Given the description of an element on the screen output the (x, y) to click on. 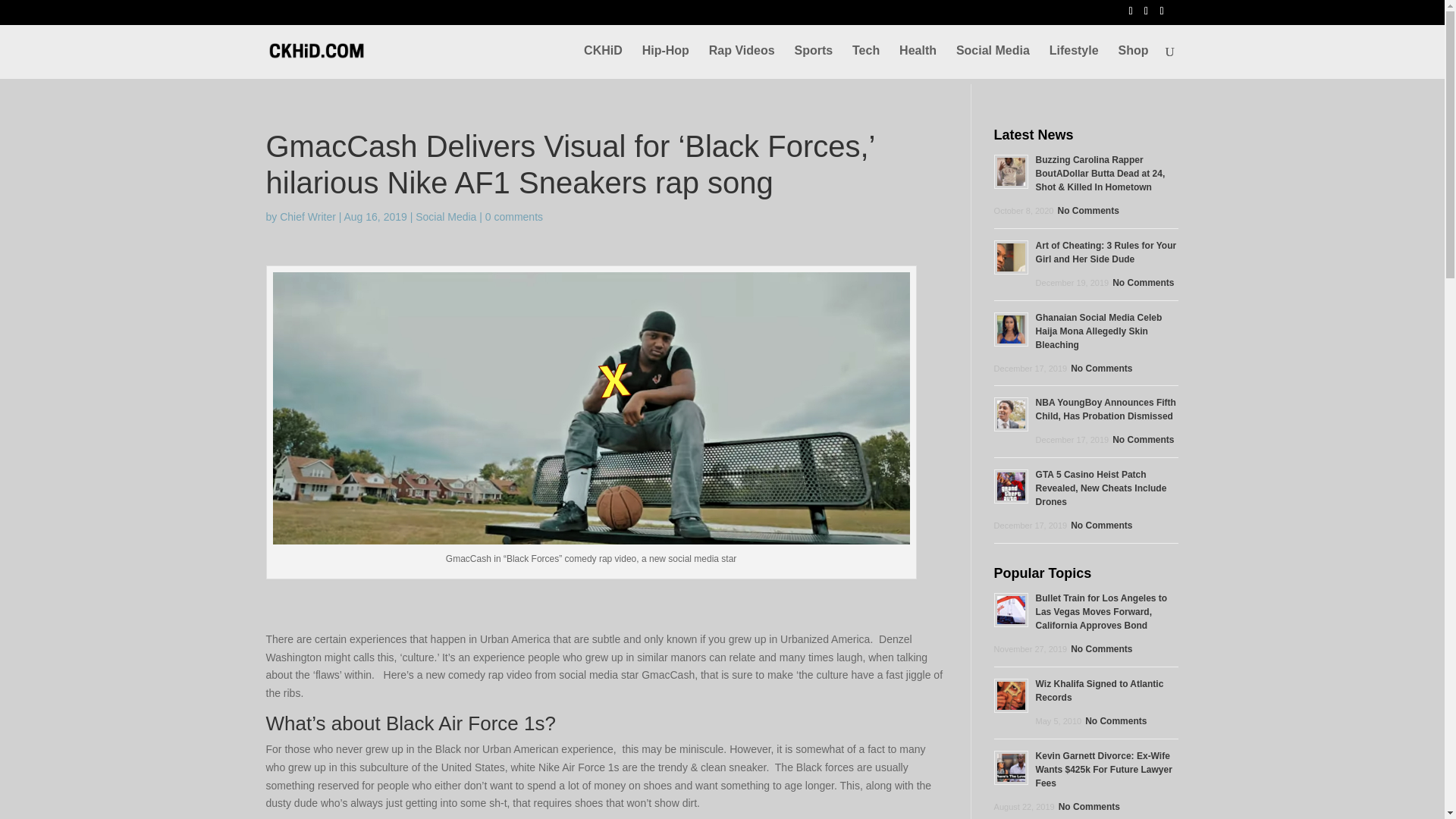
Rap Videos (741, 61)
Shop (1133, 61)
Hip-Hop (665, 61)
NBA YoungBoy Announces Fifth Child, Has Probation Dismissed (1105, 409)
No Comments (1085, 210)
CKHiD (603, 61)
Health (917, 61)
No Comments (1099, 368)
Sports (812, 61)
Social Media (992, 61)
